Given the description of an element on the screen output the (x, y) to click on. 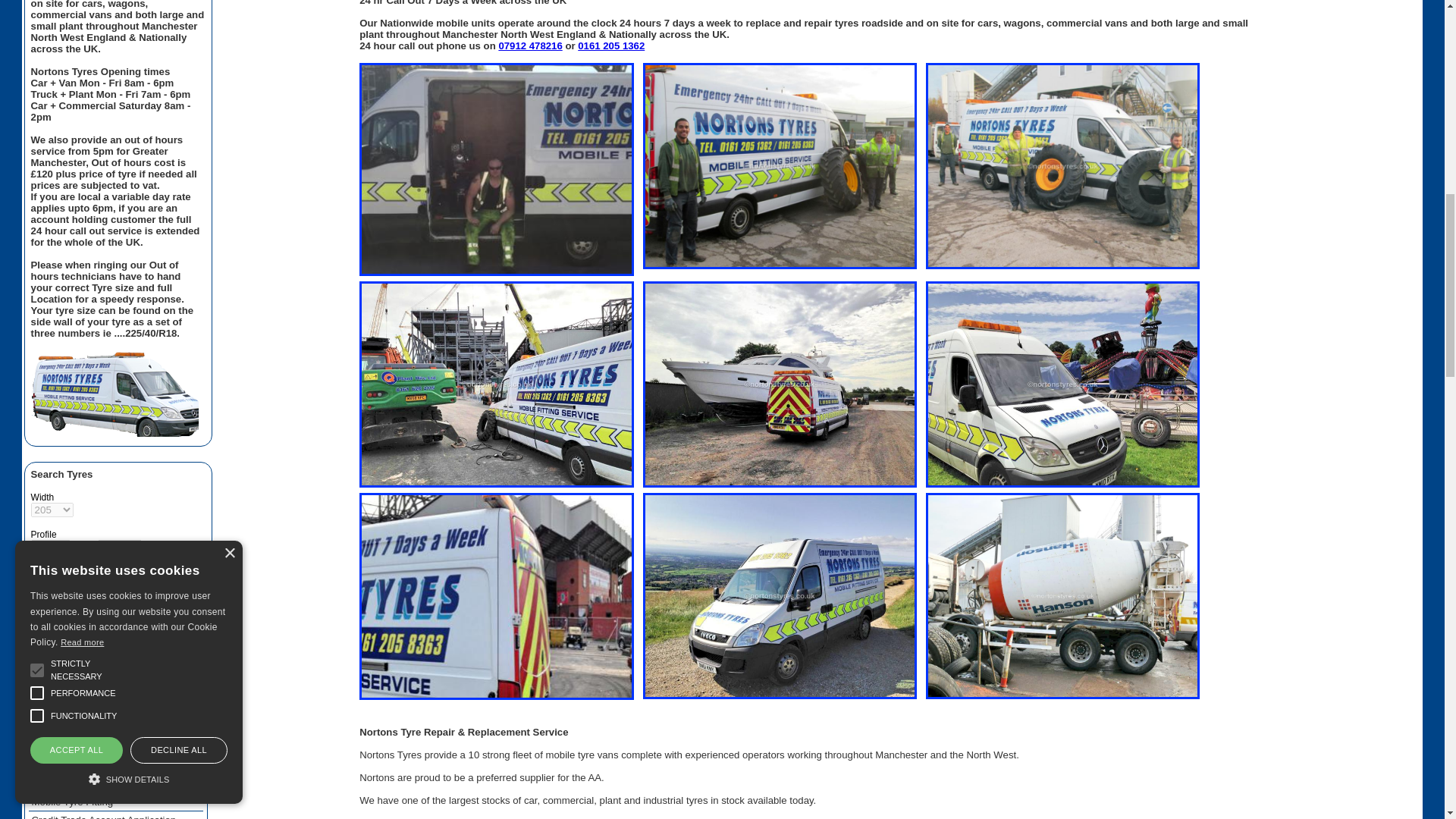
Nortons Tyres (116, 764)
Contact (116, 783)
Contact (116, 783)
Home (116, 764)
Mobile Tyre Fitting (116, 801)
Mobile Tyre Fitting (116, 801)
Credit Trade Account Application (116, 815)
Credit Trade Account Application (116, 815)
Search (52, 610)
My Favourites (116, 740)
